Given the description of an element on the screen output the (x, y) to click on. 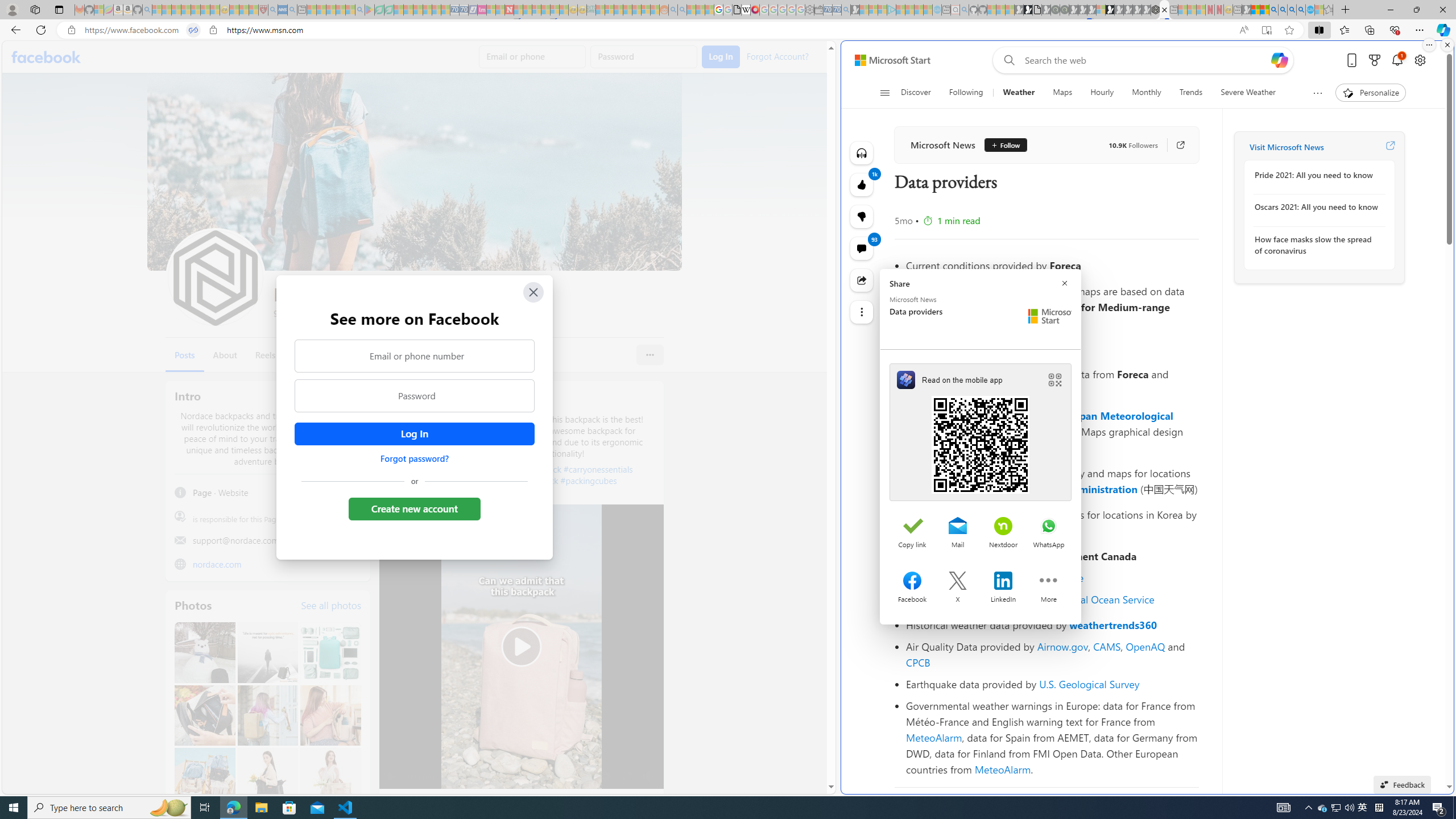
Services - Maintenance | Sky Blue Bikes - Sky Blue Bikes (1309, 9)
MSN - Sleeping (1246, 9)
Class: at-item (861, 312)
Visit Microsoft News website (1390, 146)
Kweather (928, 530)
Share on LinkedIn (1002, 581)
Future Focus Report 2024 - Sleeping (1064, 9)
